Given the description of an element on the screen output the (x, y) to click on. 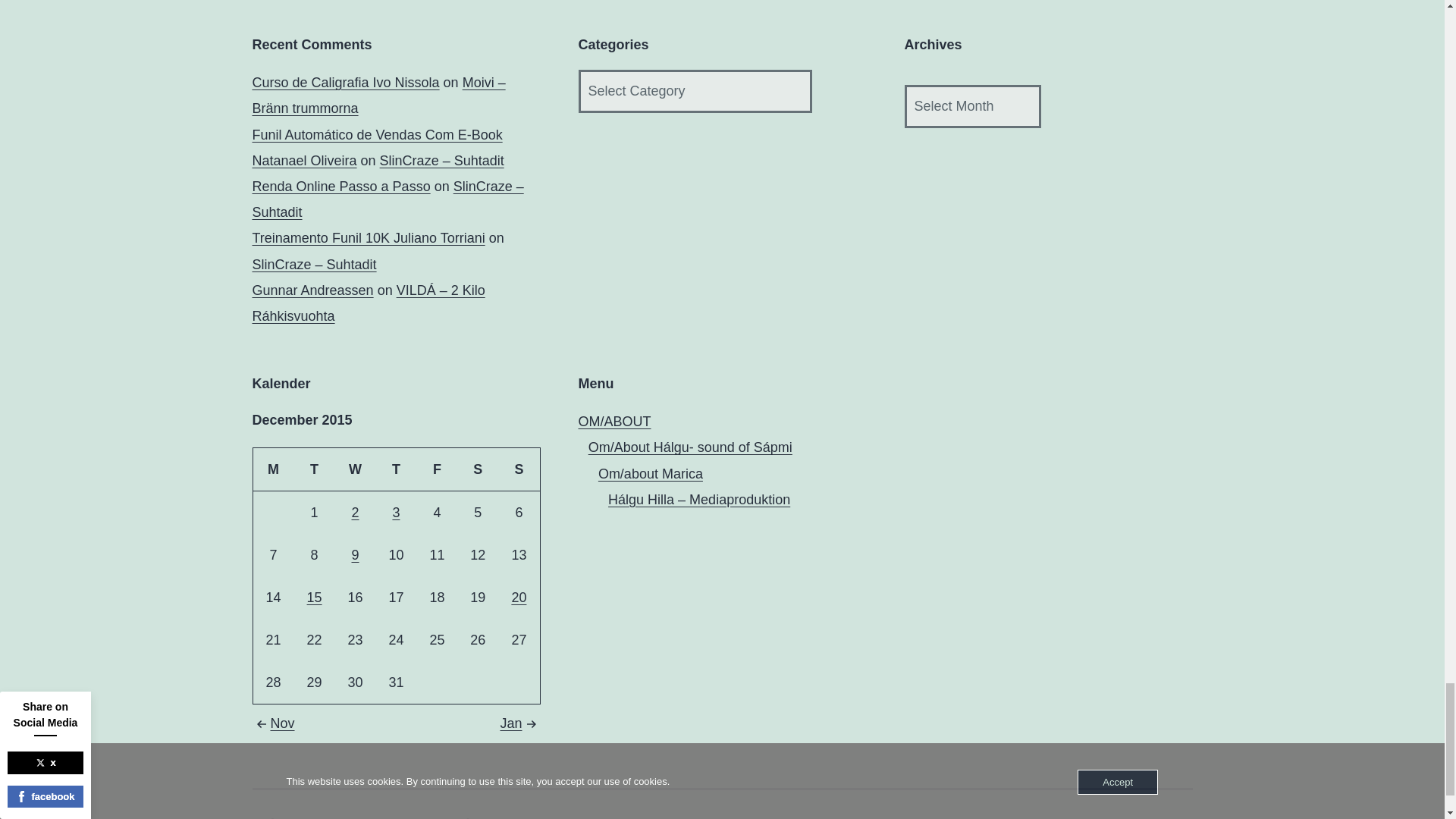
Tuesday (314, 468)
Wednesday (354, 468)
Friday (436, 468)
Thursday (395, 468)
Monday (272, 468)
